Given the description of an element on the screen output the (x, y) to click on. 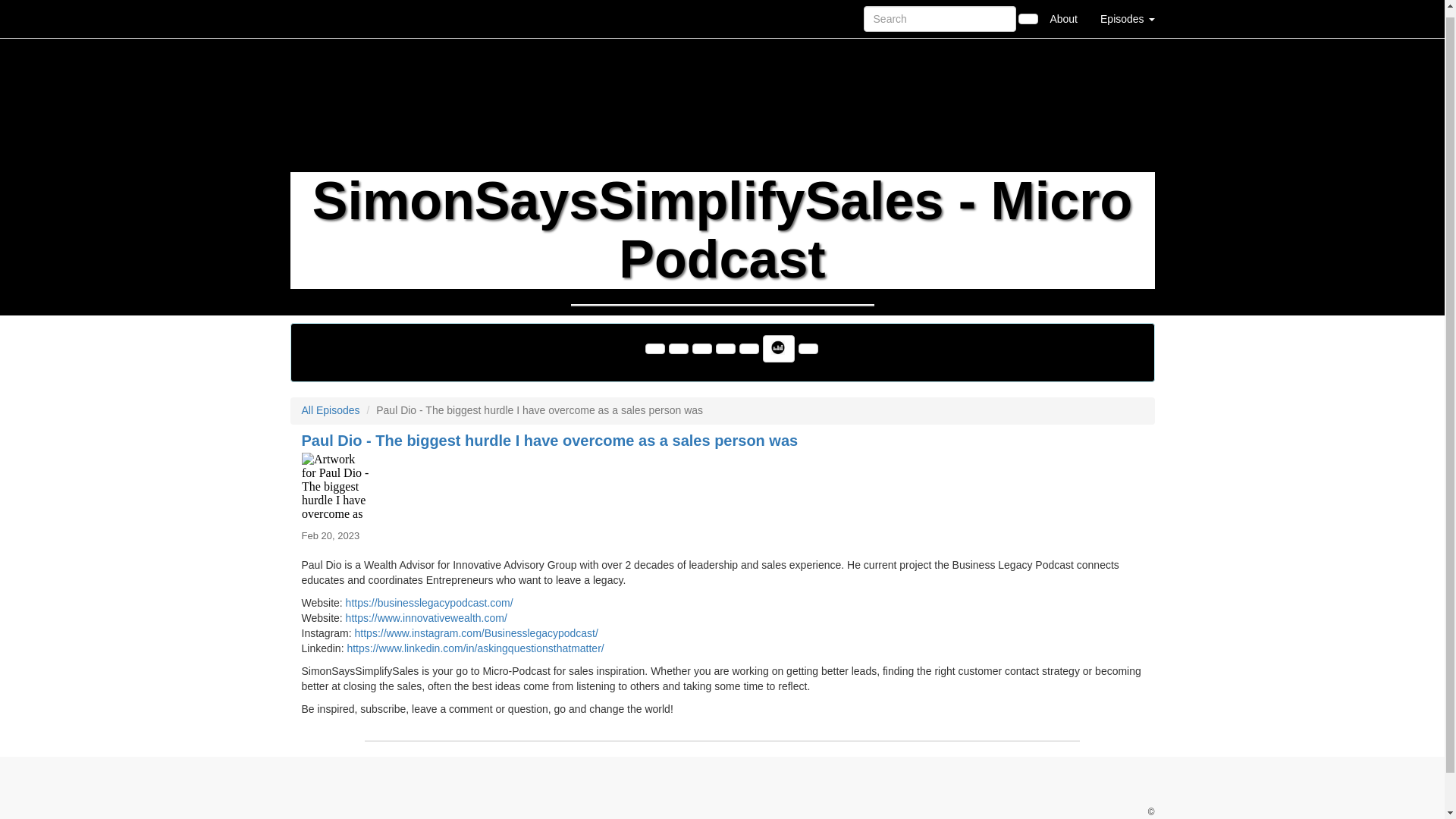
About (1063, 15)
Home Page (320, 15)
All Episodes (330, 410)
Episodes (1127, 15)
